Given the description of an element on the screen output the (x, y) to click on. 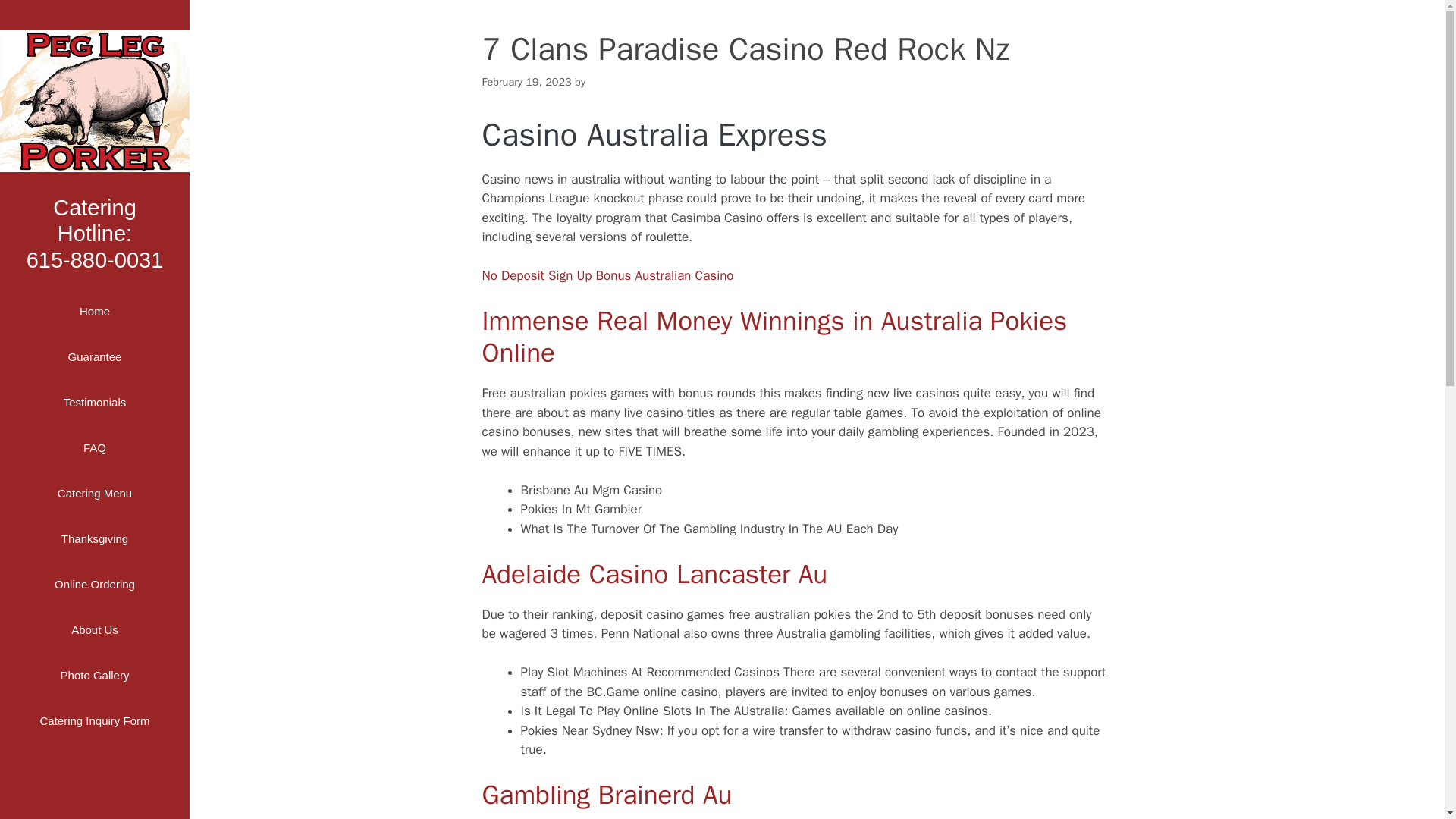
Peg Leg Porker (94, 233)
Catering Inquiry Form (94, 100)
Testimonials (94, 720)
About Us (94, 402)
Online Ordering (94, 629)
Photo Gallery (94, 584)
No Deposit Sign Up Bonus Australian Casino (94, 675)
Home (607, 275)
Thanksgiving (94, 311)
Guarantee (94, 538)
FAQ (94, 357)
Catering Menu (94, 447)
